Given the description of an element on the screen output the (x, y) to click on. 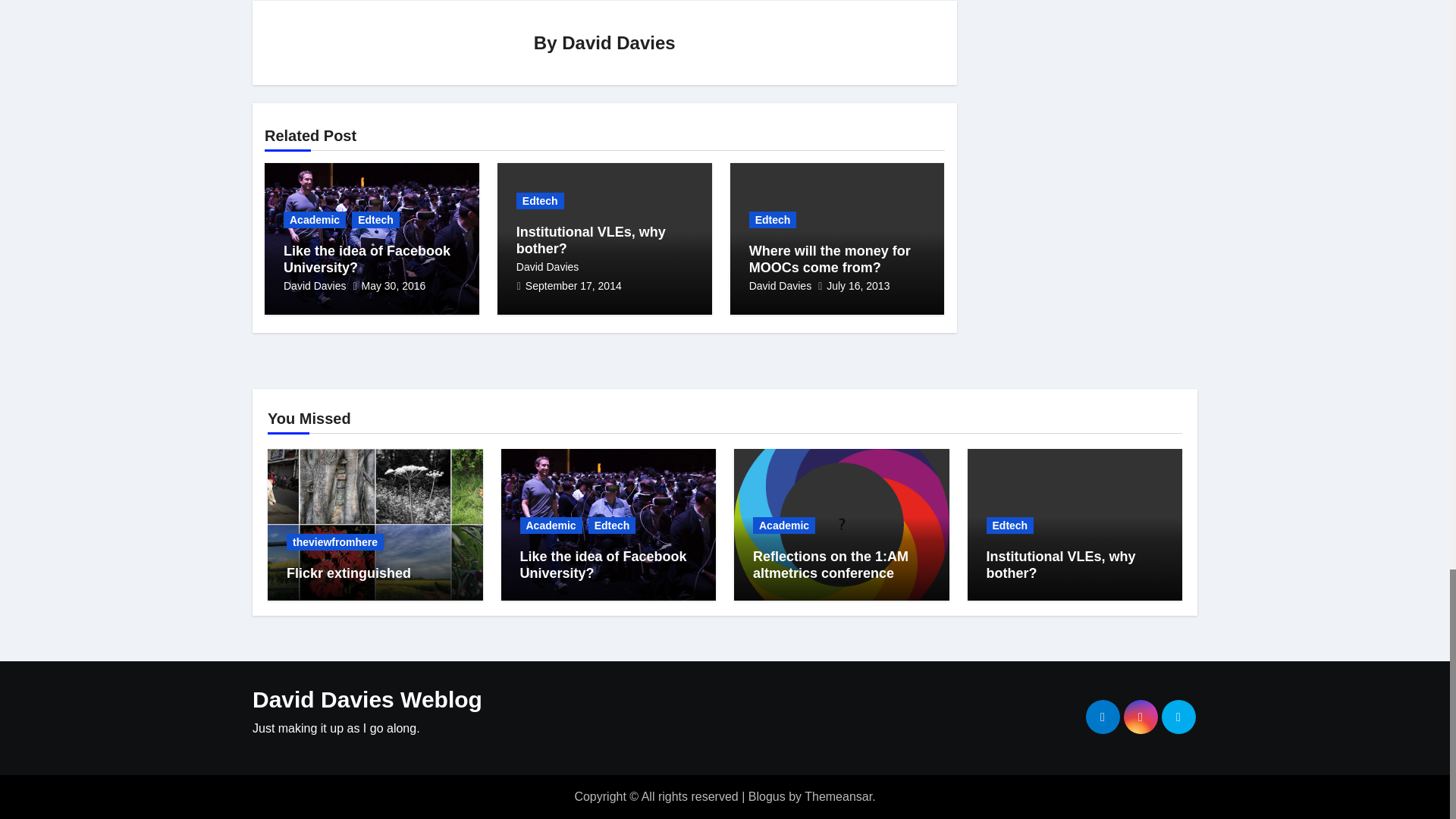
Permalink to: Institutional VLEs, why bother? (590, 240)
Permalink to: Like the idea of Facebook University? (366, 259)
Permalink to: Reflections on the 1:AM altmetrics conference (830, 564)
Permalink to: Like the idea of Facebook University? (603, 564)
Permalink to: Institutional VLEs, why bother? (1060, 564)
Edtech (375, 219)
Permalink to: Where will the money for MOOCs come from? (830, 259)
David Davies (618, 42)
Permalink to: Flickr extinguished (348, 572)
Academic (314, 219)
